Given the description of an element on the screen output the (x, y) to click on. 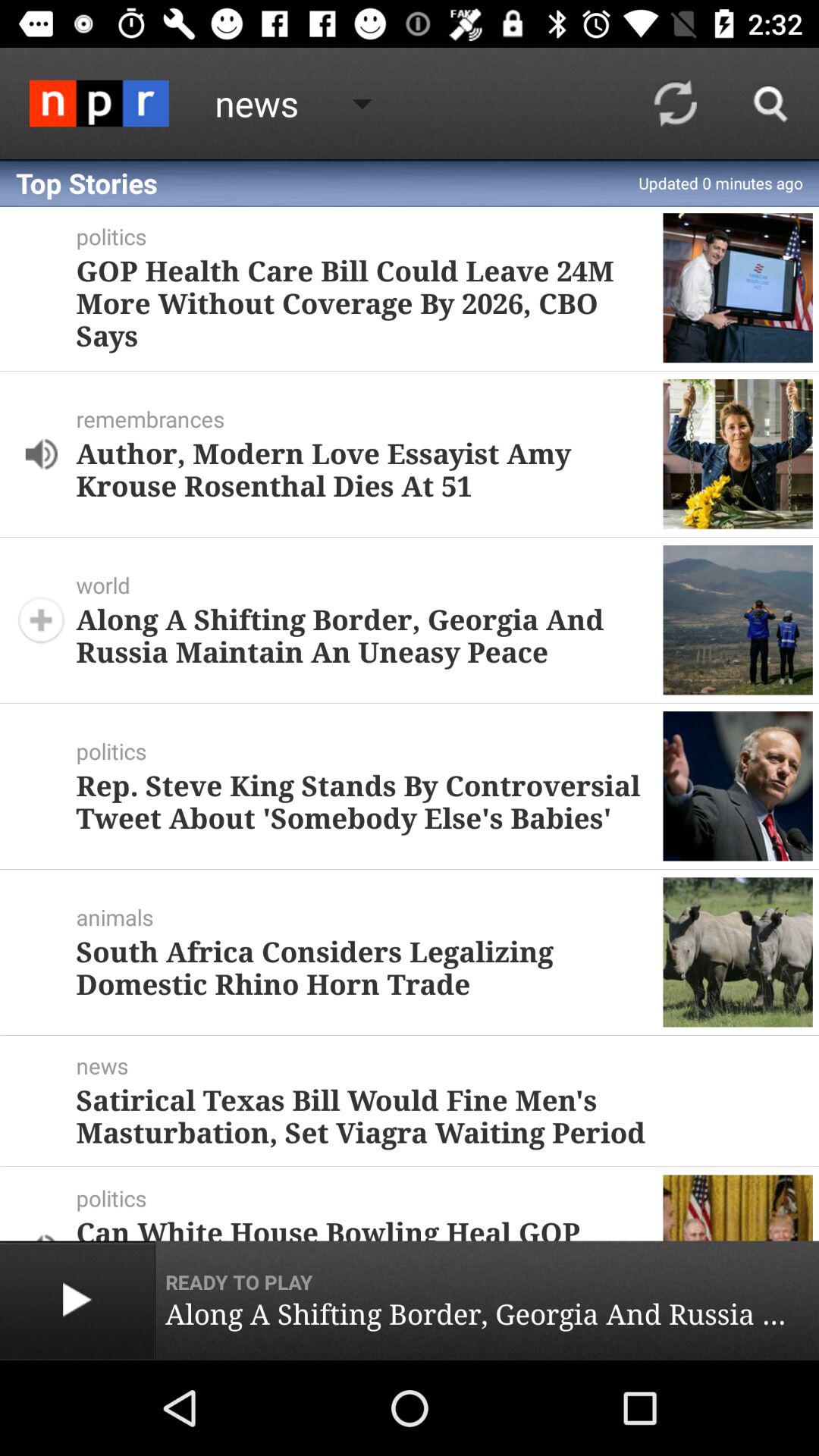
press item above updated 0 minutes (771, 103)
